Given the description of an element on the screen output the (x, y) to click on. 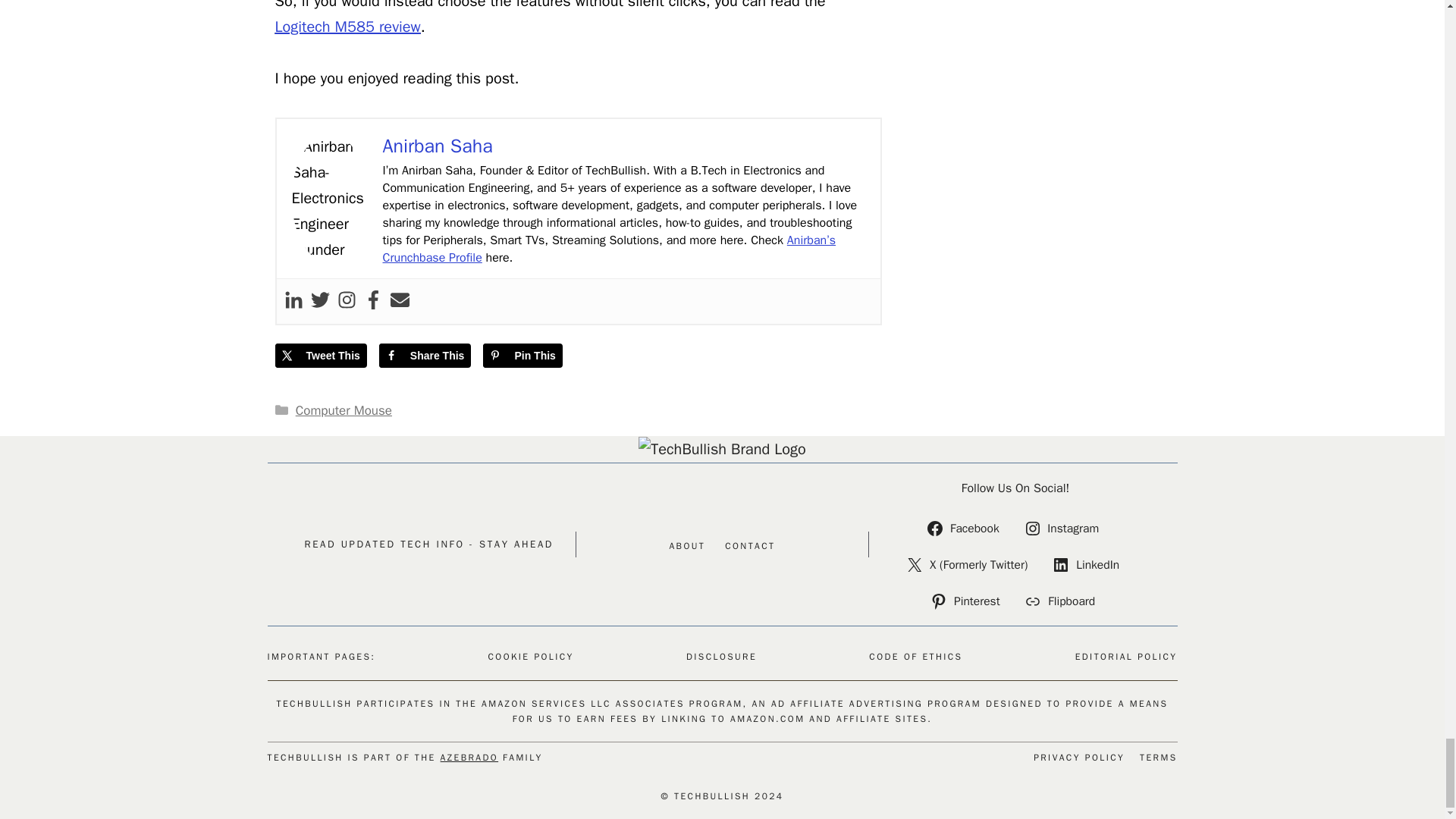
Tweet This (320, 355)
ABOUT (686, 545)
Share on X (320, 355)
Share This (424, 355)
Computer Mouse (343, 410)
Save to Pinterest (522, 355)
Logitech M585 review (347, 26)
CONTACT (749, 545)
Anirban Saha (436, 146)
Facebook (965, 528)
